Given the description of an element on the screen output the (x, y) to click on. 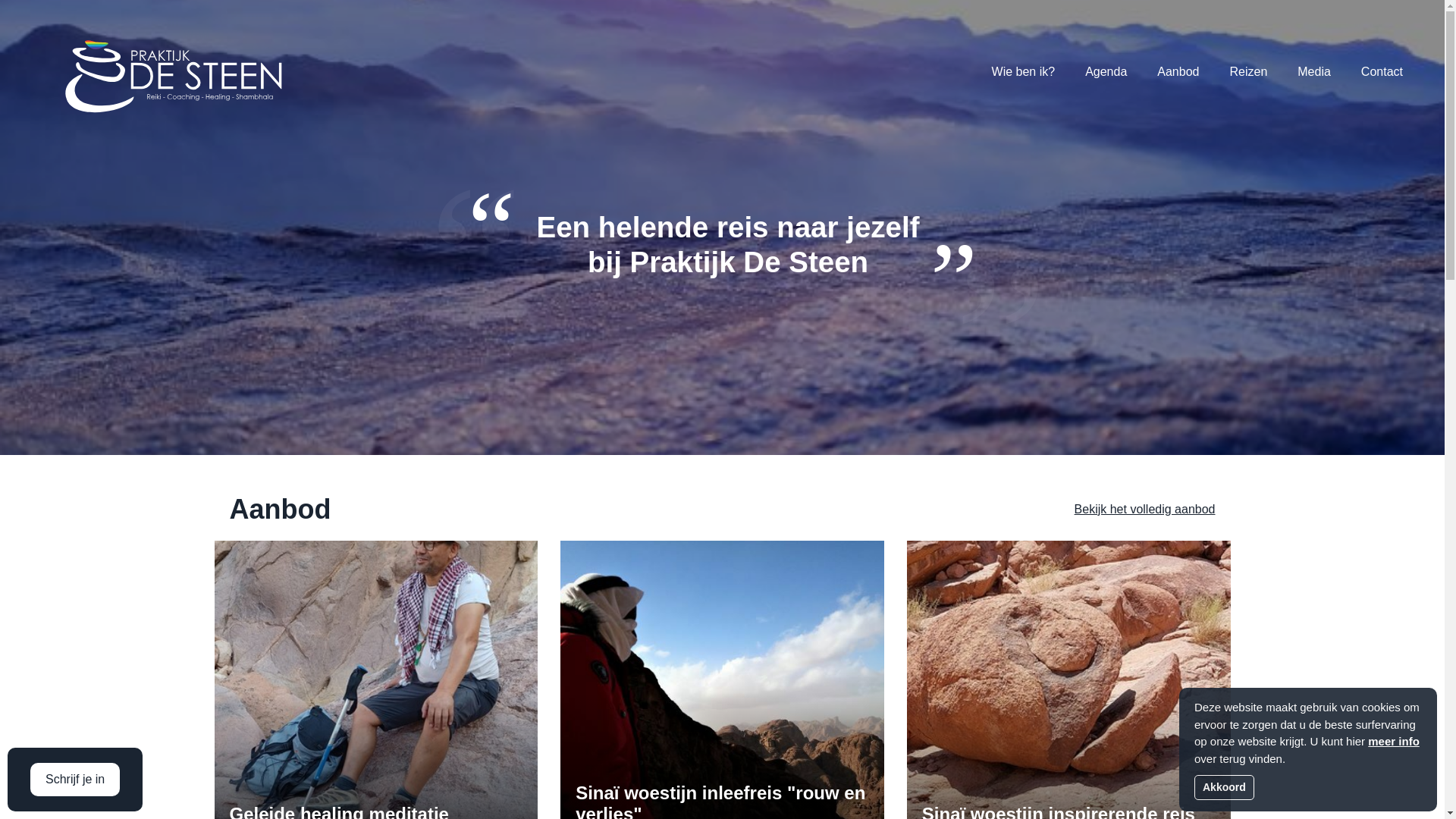
Media Element type: text (1313, 71)
Aanbod Element type: text (1177, 71)
Wie ben ik? Element type: text (1023, 71)
Akkoord Element type: text (1224, 787)
meer info Element type: text (1393, 740)
Bekijk het volledig aanbod Element type: text (1144, 509)
Reizen Element type: text (1248, 71)
Agenda Element type: text (1105, 71)
Contact Element type: text (1381, 71)
Schrijf je in Element type: text (74, 779)
